Given the description of an element on the screen output the (x, y) to click on. 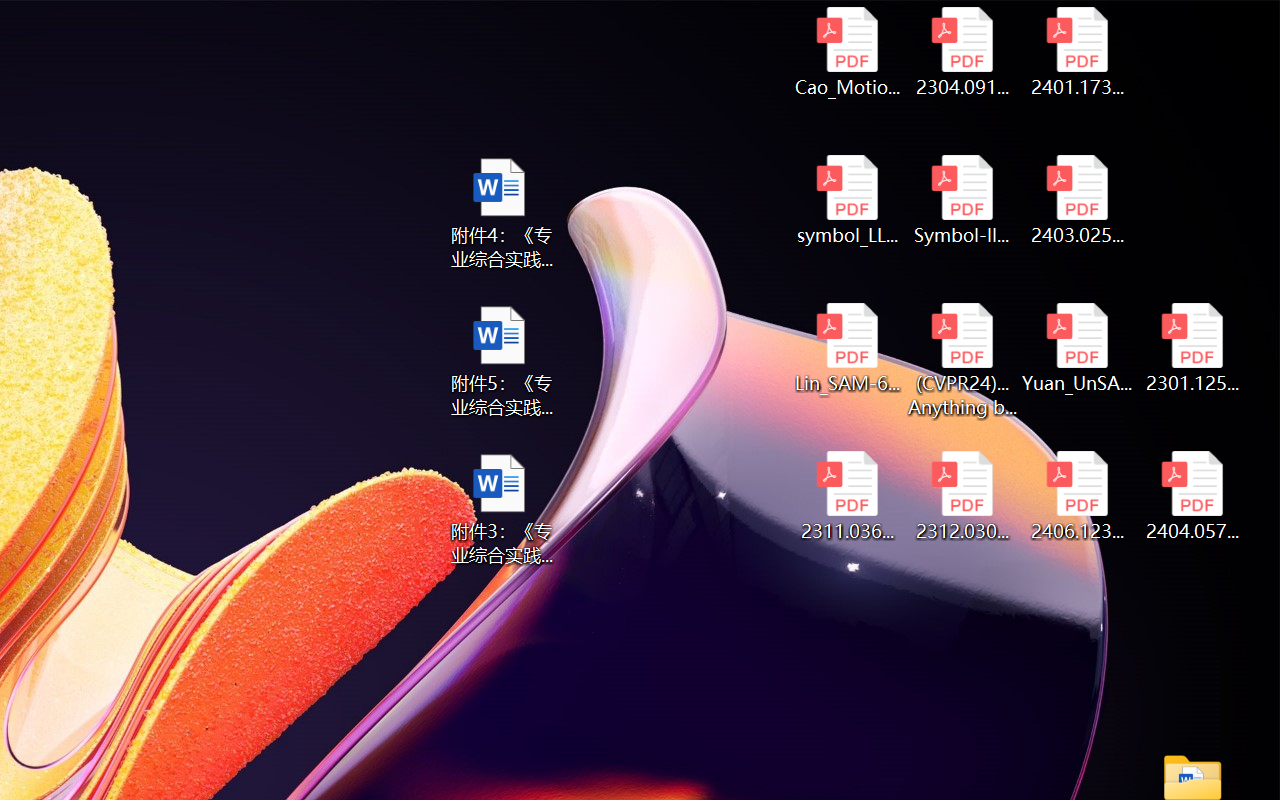
2404.05719v1.pdf (1192, 496)
Symbol-llm-v2.pdf (962, 200)
2311.03658v2.pdf (846, 496)
2401.17399v1.pdf (1077, 52)
2403.02502v1.pdf (1077, 200)
(CVPR24)Matching Anything by Segmenting Anything.pdf (962, 360)
symbol_LLM.pdf (846, 200)
2312.03032v2.pdf (962, 496)
2406.12373v2.pdf (1077, 496)
2301.12597v3.pdf (1192, 348)
